Given the description of an element on the screen output the (x, y) to click on. 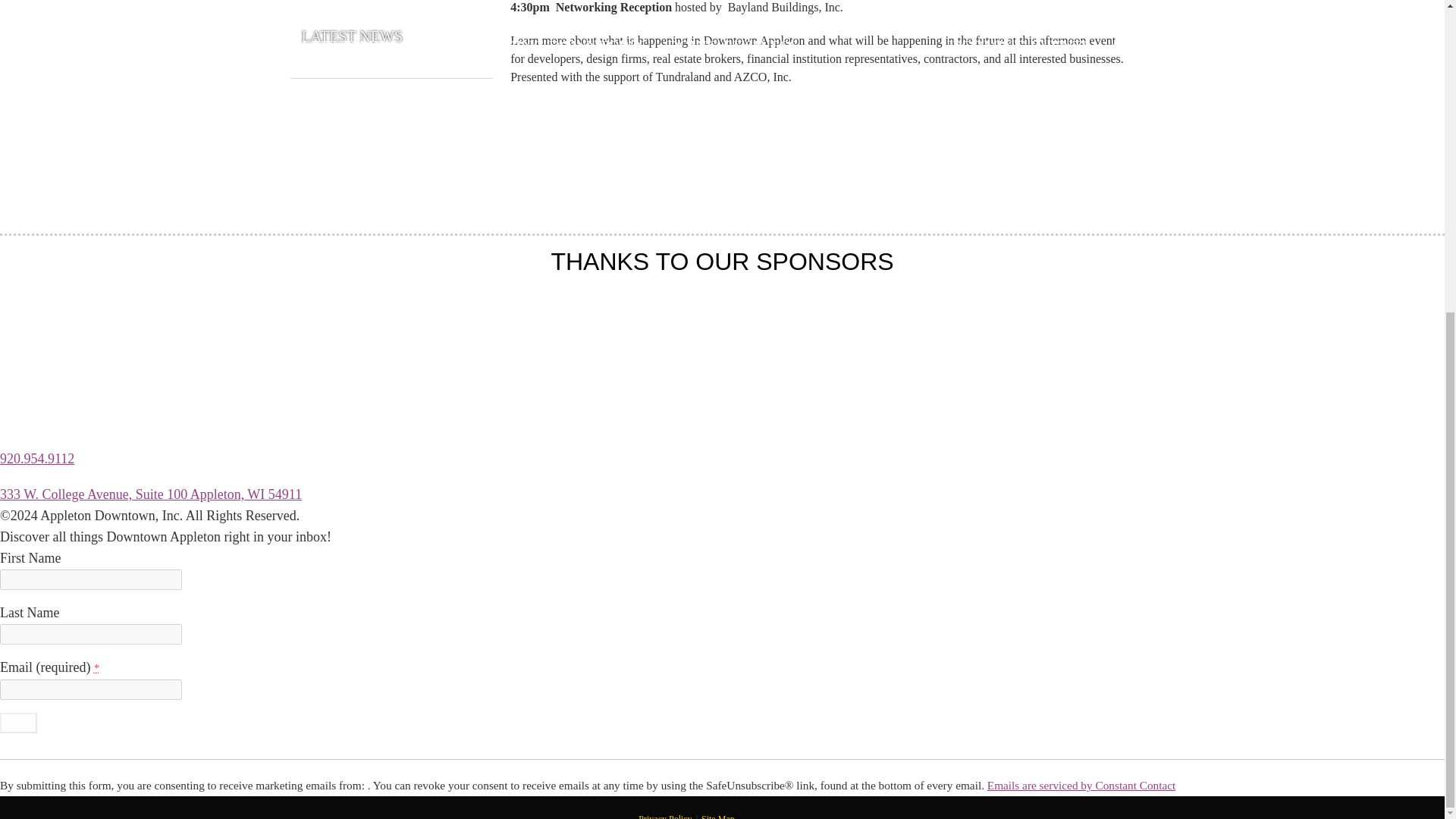
GO! (18, 722)
